Given the description of an element on the screen output the (x, y) to click on. 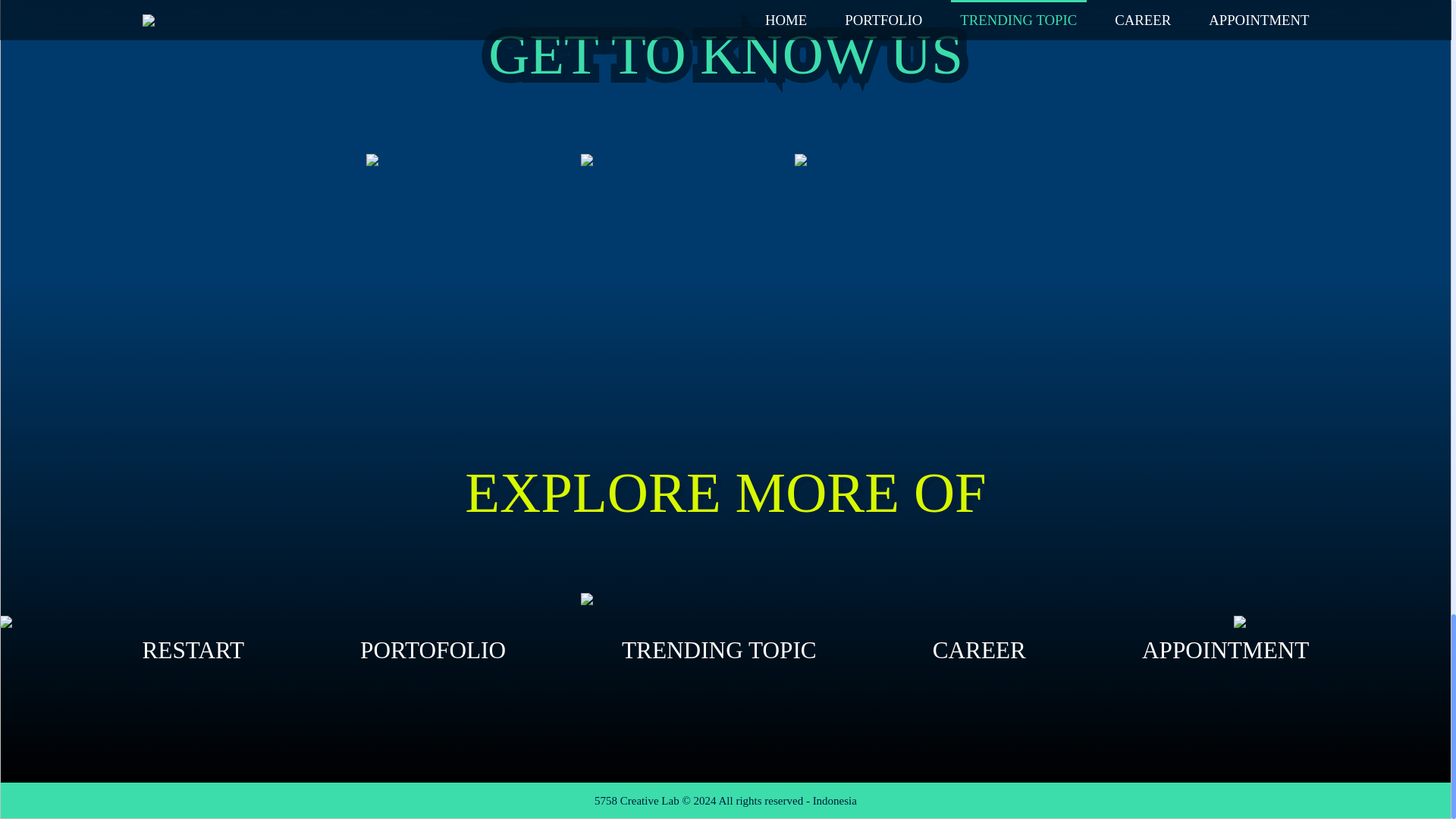
RESTART (193, 651)
PORTOFOLIO (432, 651)
APPOINTMENT (1224, 651)
TRENDING TOPIC (718, 651)
CAREER (979, 651)
